Given the description of an element on the screen output the (x, y) to click on. 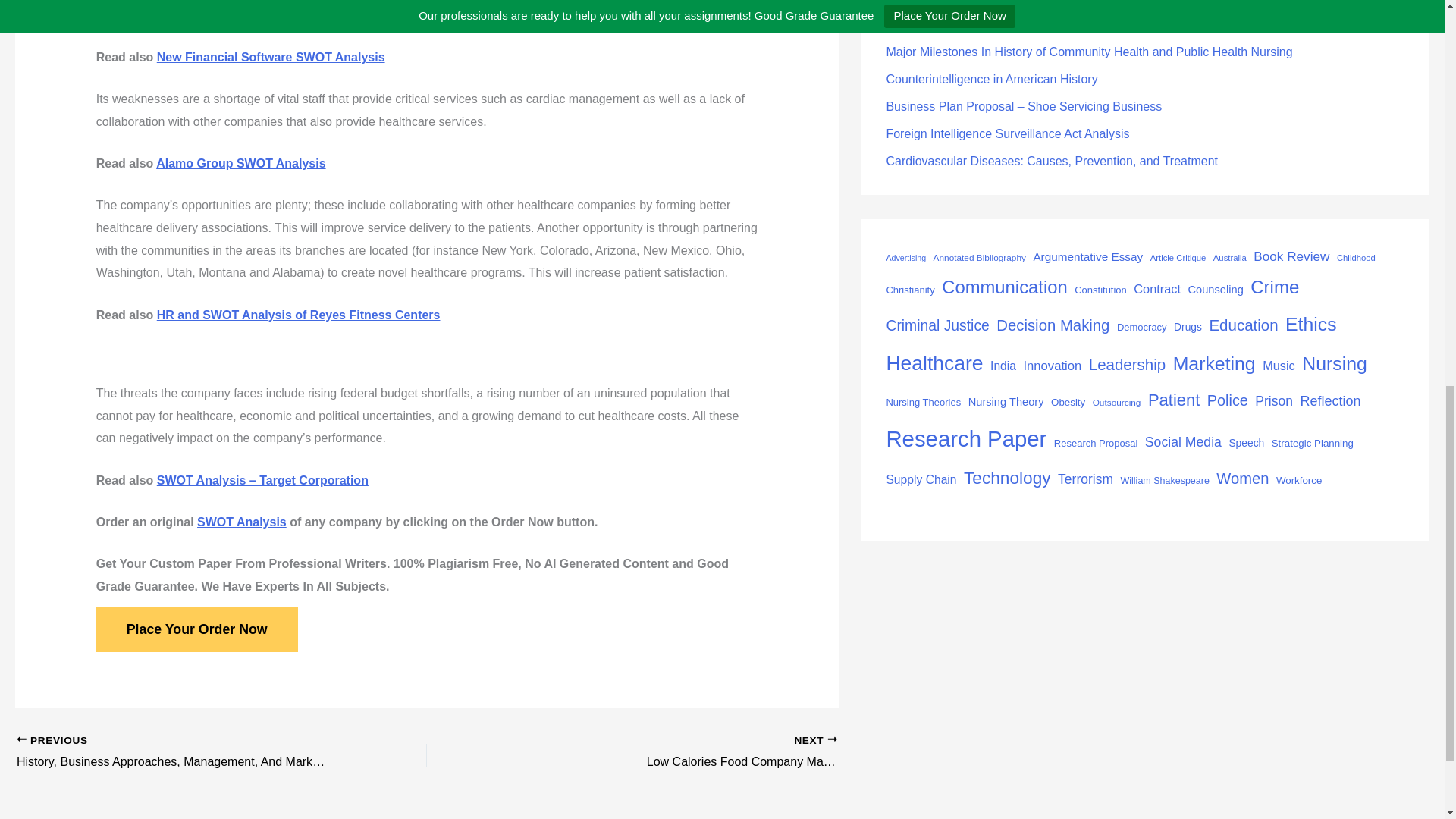
Low Calories Food Company Market Structure Analysis (734, 753)
Communication (1004, 287)
HR and SWOT Analysis of Reyes Fitness Centers (299, 314)
SWOT Analysis (241, 521)
Annotated Bibliography (979, 258)
Advertising (905, 258)
Constitution (1100, 290)
Decision Making (1052, 325)
Book Review (1291, 256)
Alamo Group SWOT Analysis (239, 163)
Counterintelligence in American History (991, 78)
Cardiovascular Diseases: Causes, Prevention, and Treatment (1051, 160)
Argumentative Essay (1087, 257)
